Given the description of an element on the screen output the (x, y) to click on. 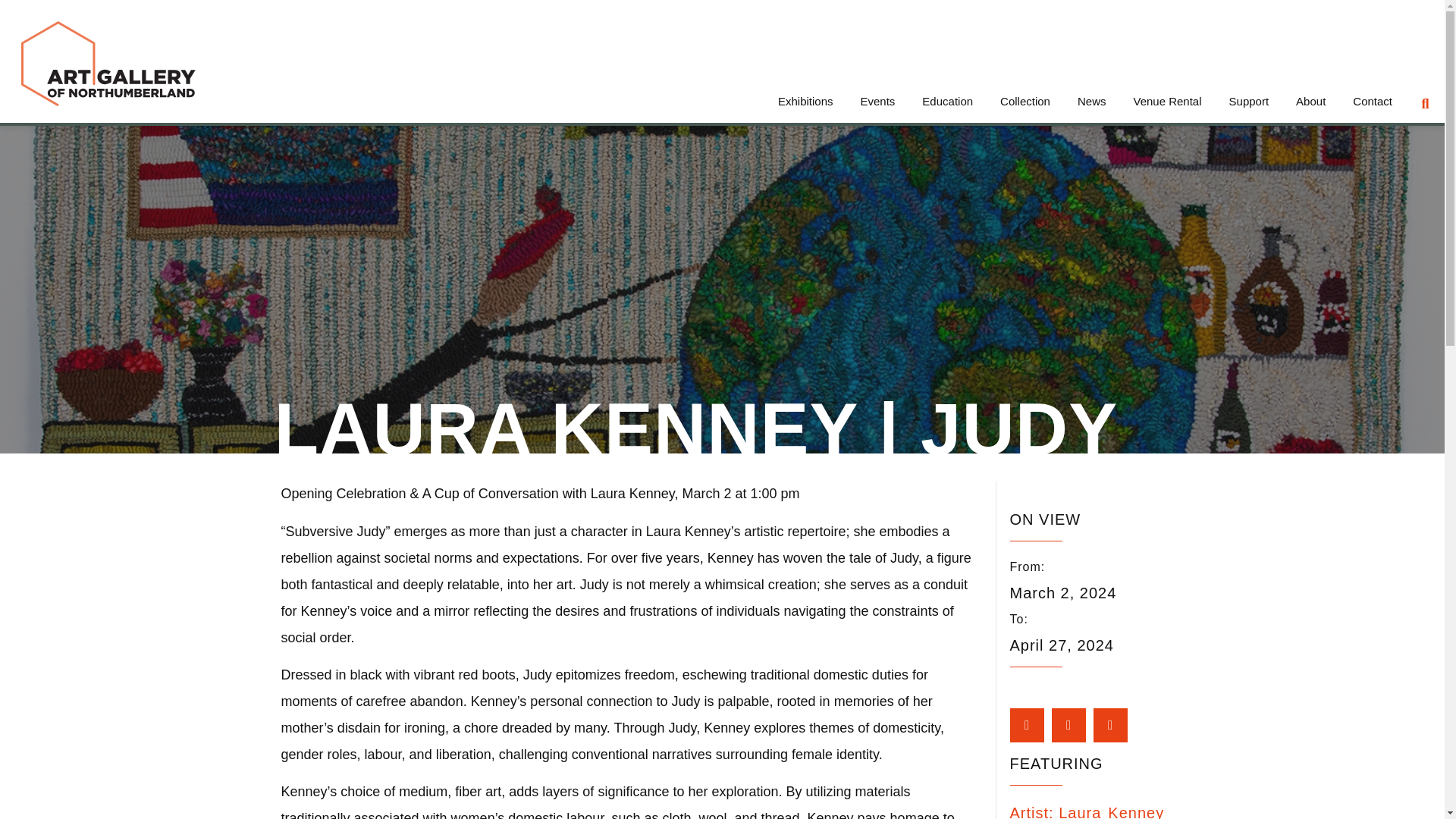
Events (876, 97)
Venue Rental (1166, 97)
Education (947, 97)
Contact (1372, 97)
Support (1248, 97)
Exhibitions (805, 97)
News (1091, 97)
About (1310, 97)
Collection (1025, 97)
